Given the description of an element on the screen output the (x, y) to click on. 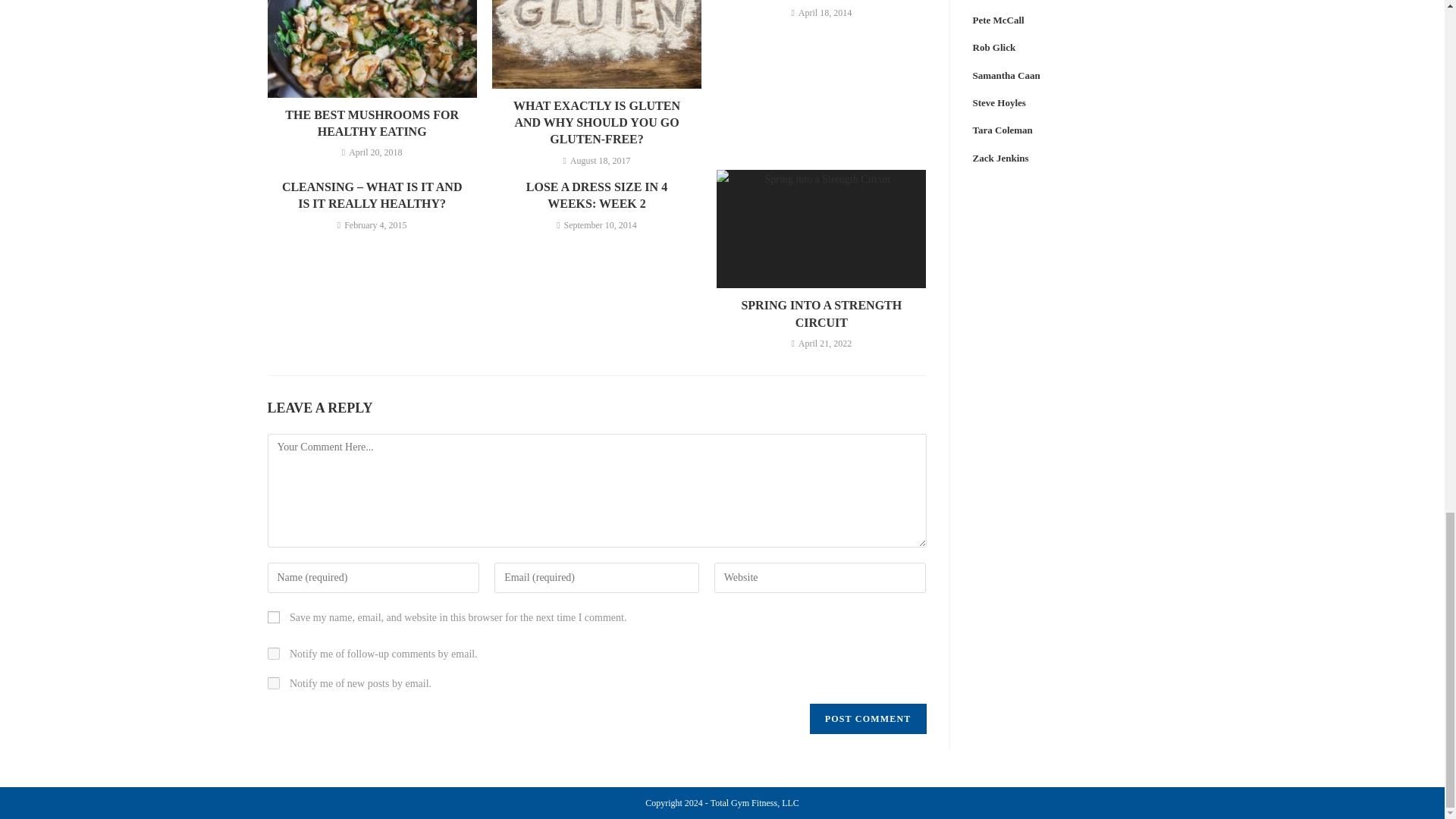
Lose a Dress Size in 4 Weeks: Week 2 (596, 195)
What Exactly Is Gluten and Why Should You Go Gluten-Free? (596, 122)
LOSE A DRESS SIZE IN 4 WEEKS: WEEK 2 (596, 195)
subscribe (272, 683)
THE BEST MUSHROOMS FOR HEALTHY EATING (371, 123)
Spring into a Strength Circuit (821, 314)
subscribe (272, 653)
WHAT EXACTLY IS GLUTEN AND WHY SHOULD YOU GO GLUTEN-FREE? (596, 122)
yes (272, 616)
